Given the description of an element on the screen output the (x, y) to click on. 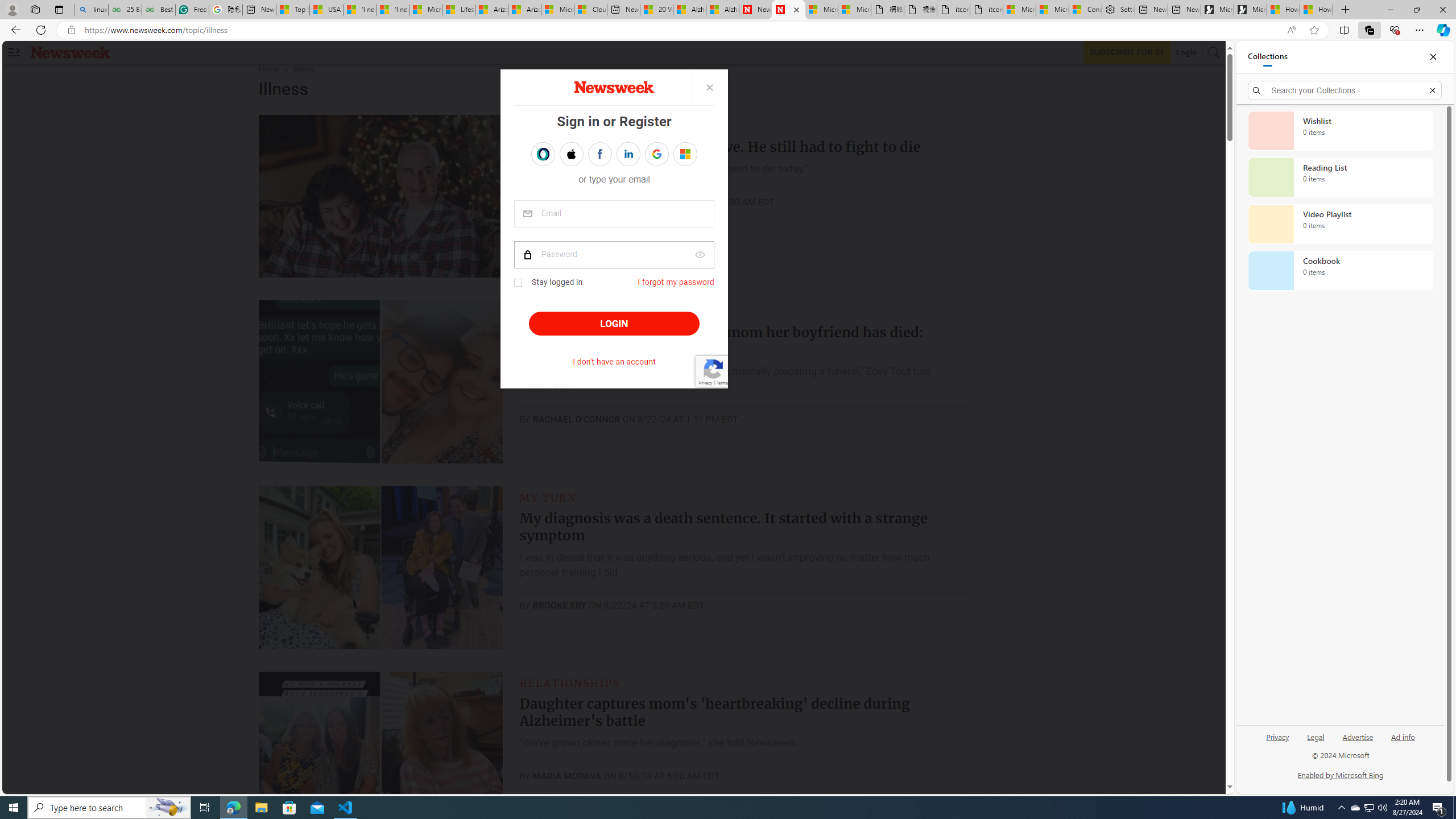
Terms (721, 382)
